Given the description of an element on the screen output the (x, y) to click on. 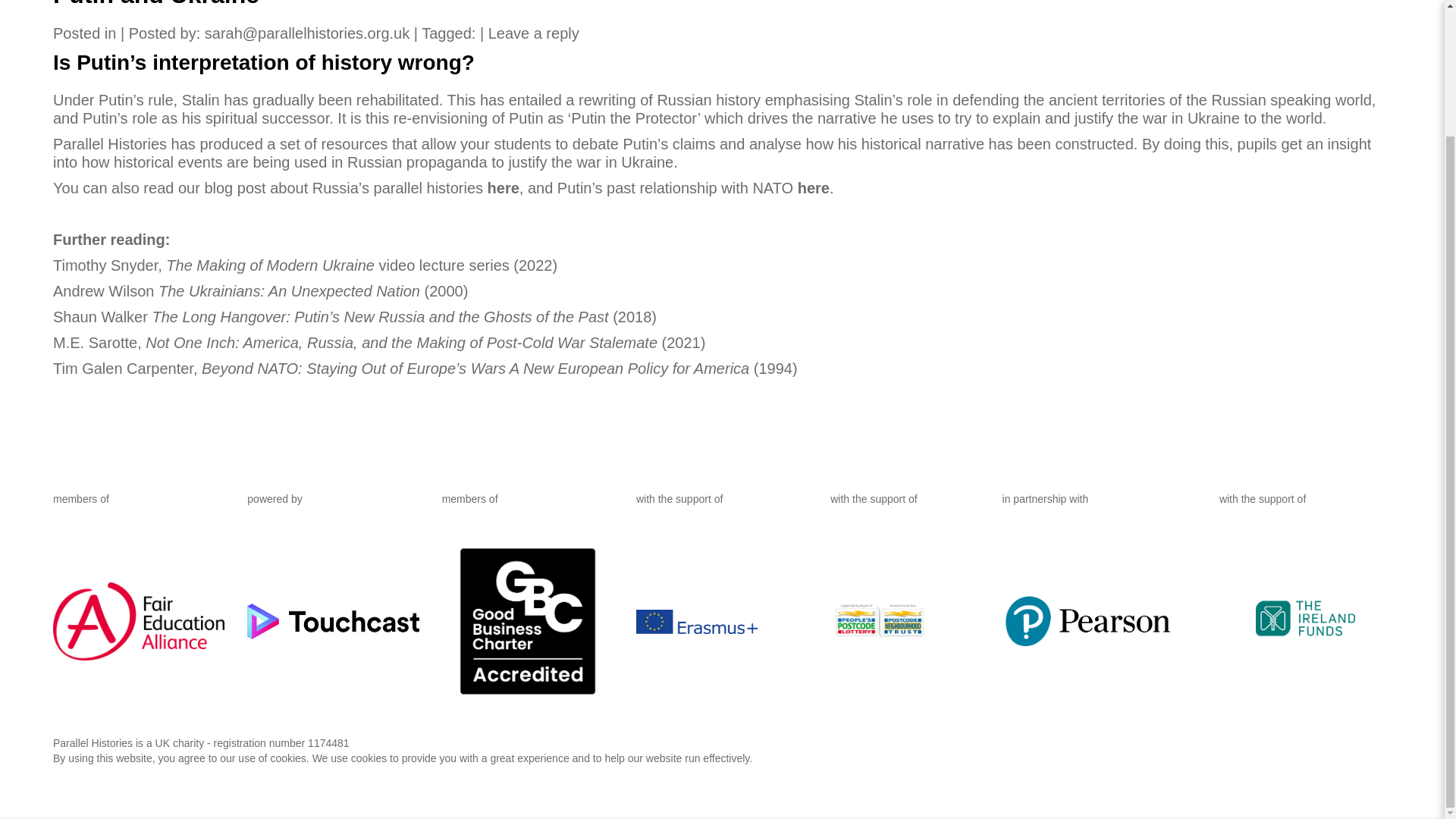
Leave a reply (533, 33)
The Making of Modern Ukraine (269, 265)
here (503, 187)
here (813, 187)
